Given the description of an element on the screen output the (x, y) to click on. 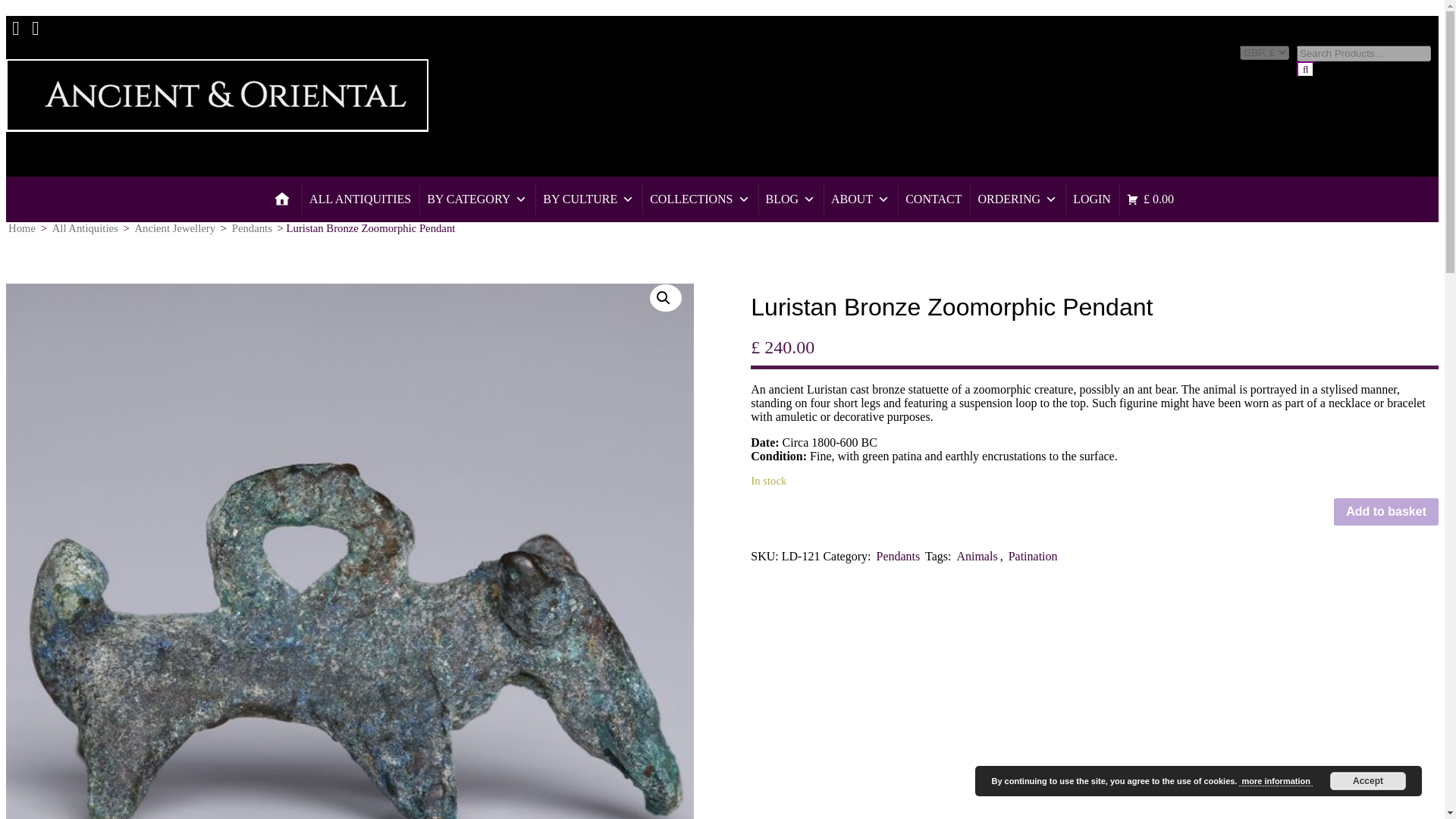
BY CATEGORY (476, 199)
instagram (35, 21)
ALL ANTIQUITIES (360, 199)
facebook (15, 21)
fa fa-home (282, 199)
